Given the description of an element on the screen output the (x, y) to click on. 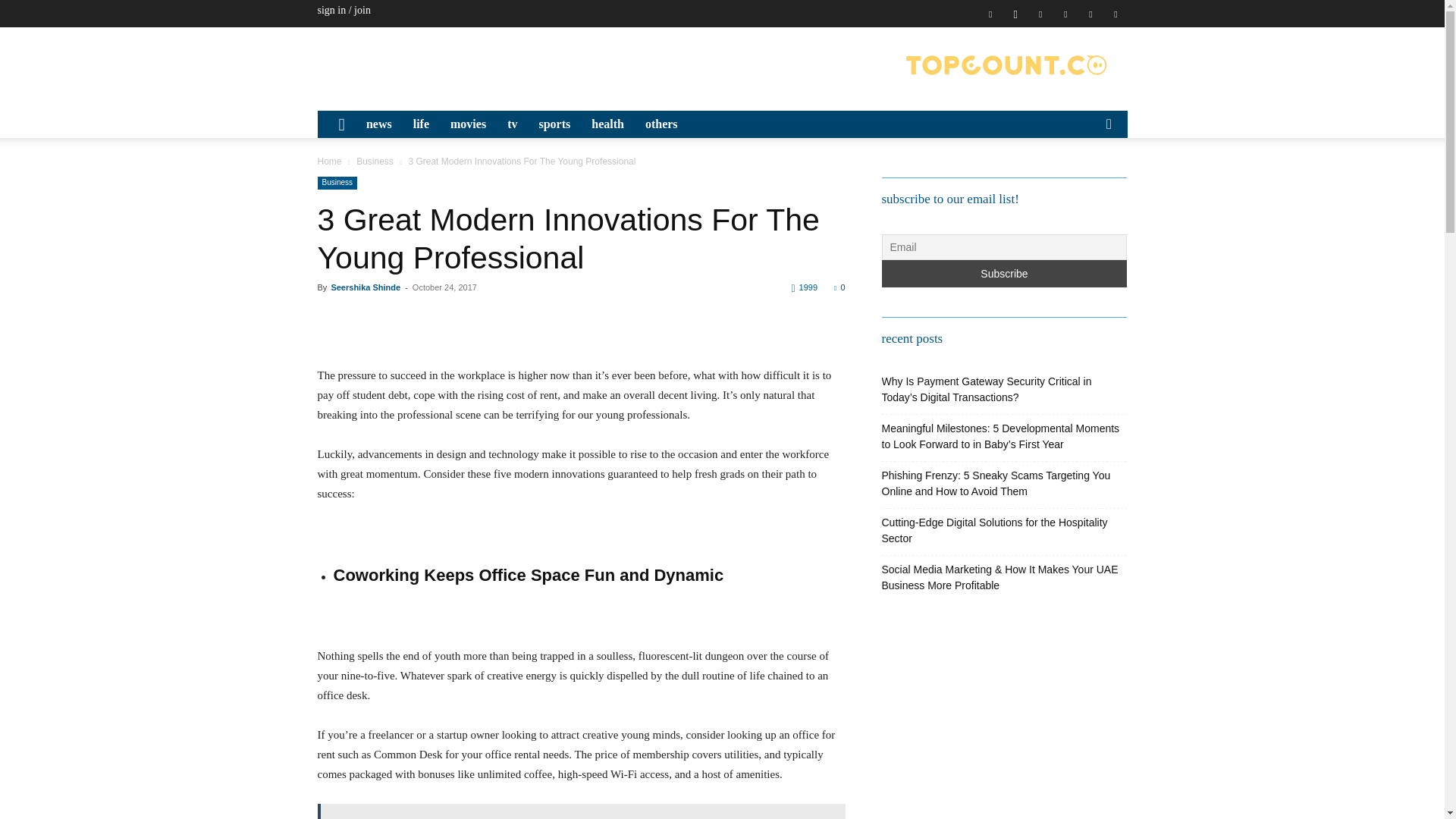
news (379, 124)
Topcount (1005, 65)
Subscribe (1003, 273)
